Given the description of an element on the screen output the (x, y) to click on. 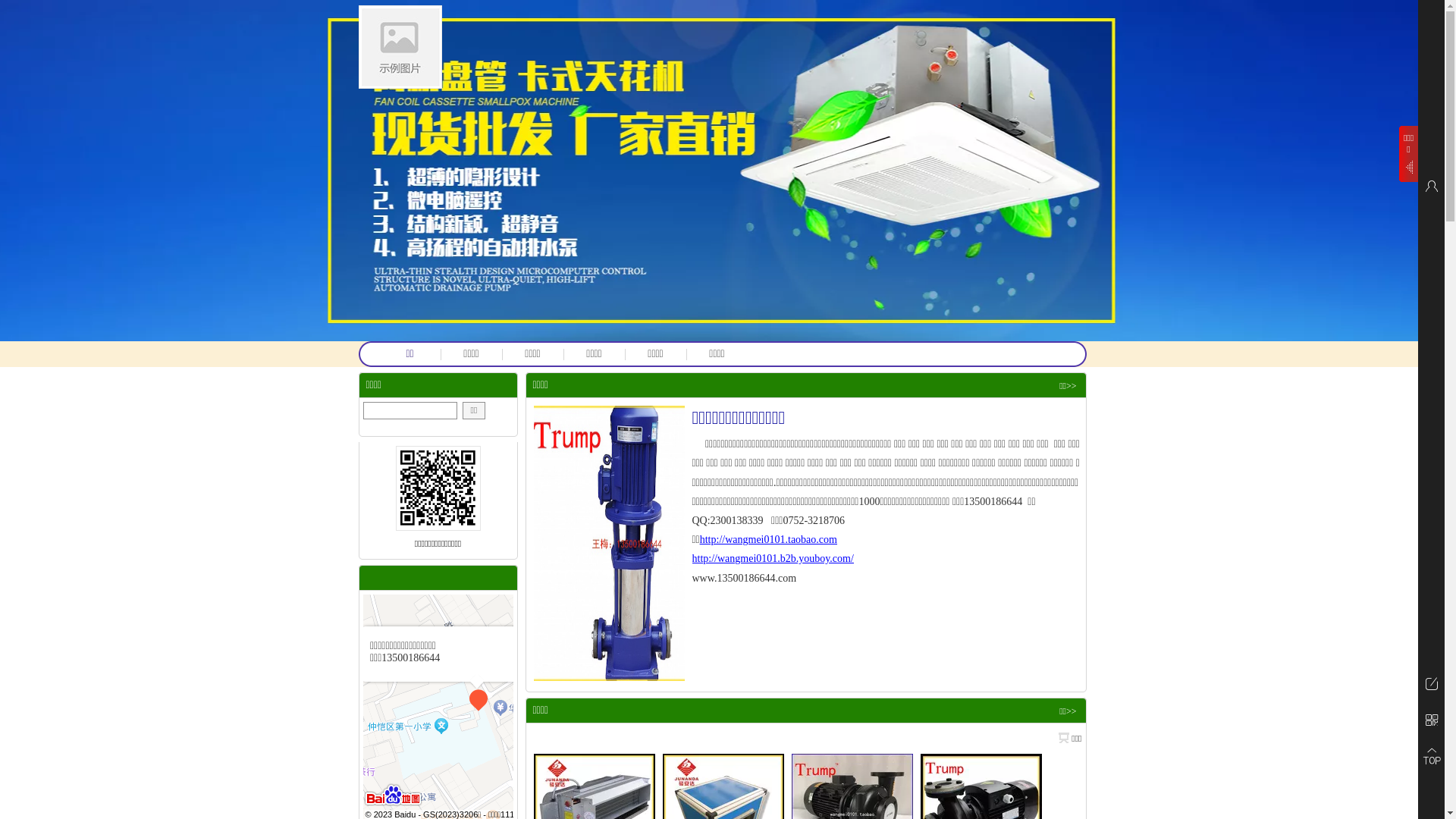
http://wangmei0101.b2b.youboy.com/ Element type: text (772, 558)
http://wangmei0101.taobao.com Element type: text (768, 539)
